Given the description of an element on the screen output the (x, y) to click on. 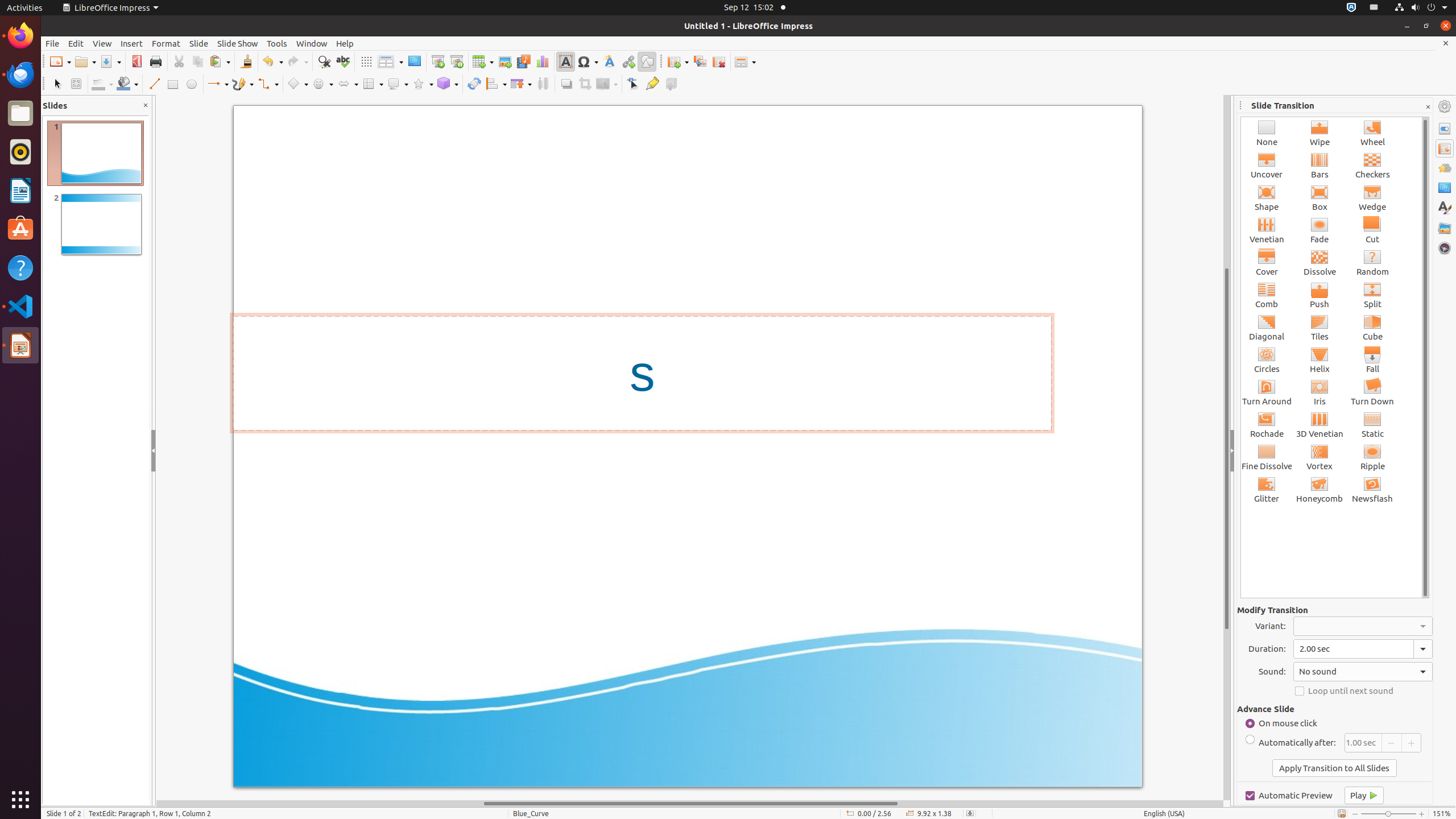
Duration: Element type: combo-box (1362, 648)
Crop Element type: push-button (584, 83)
Ellipse Element type: push-button (191, 83)
Shadow Element type: toggle-button (565, 83)
Honeycomb Element type: list-item (1319, 489)
